Given the description of an element on the screen output the (x, y) to click on. 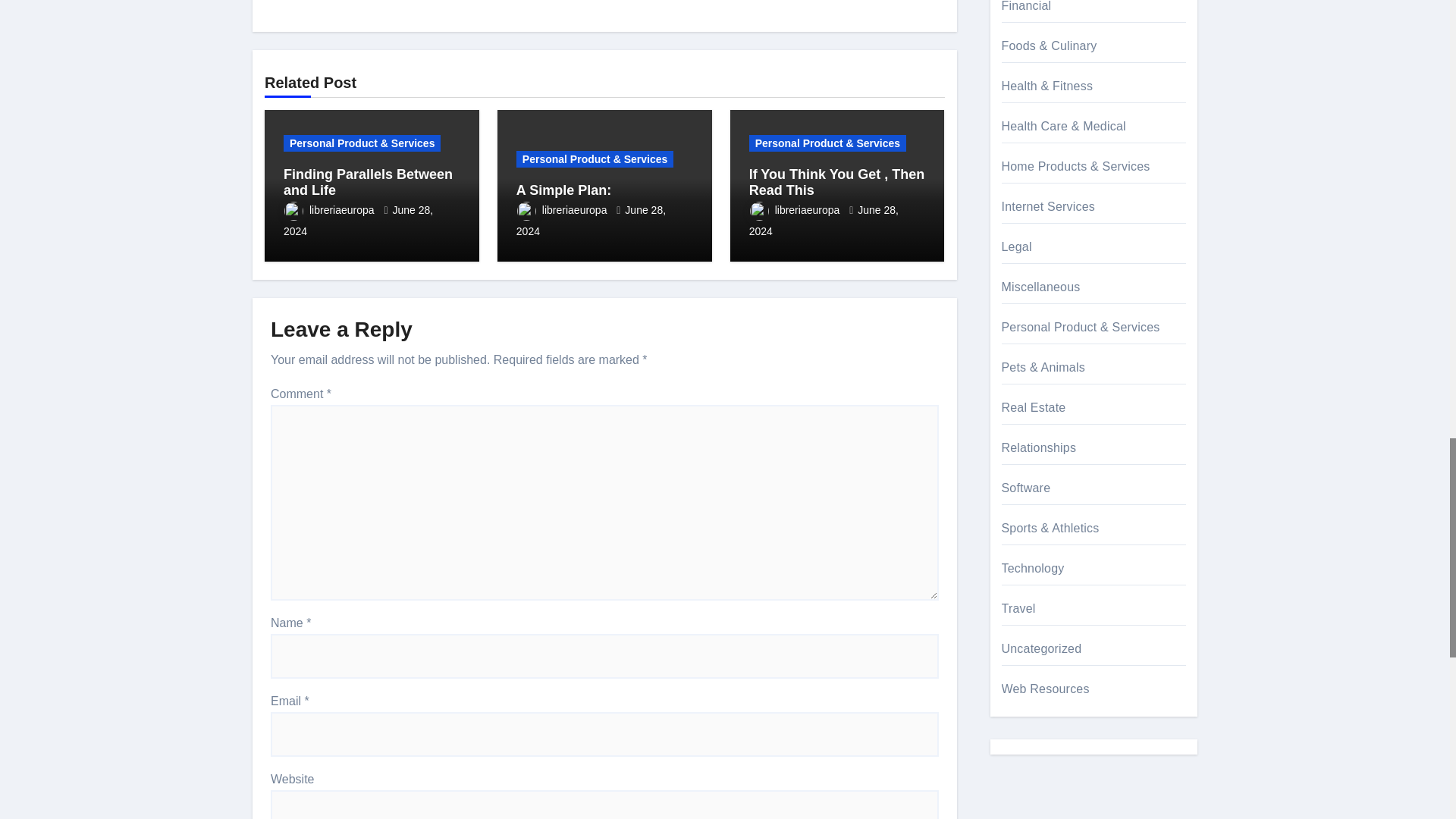
Permalink to: Finding Parallels Between  and Life (367, 183)
Finding Parallels Between and Life (367, 183)
Permalink to: A Simple Plan: (563, 190)
Permalink to: If You Think You Get , Then Read This (836, 183)
